Given the description of an element on the screen output the (x, y) to click on. 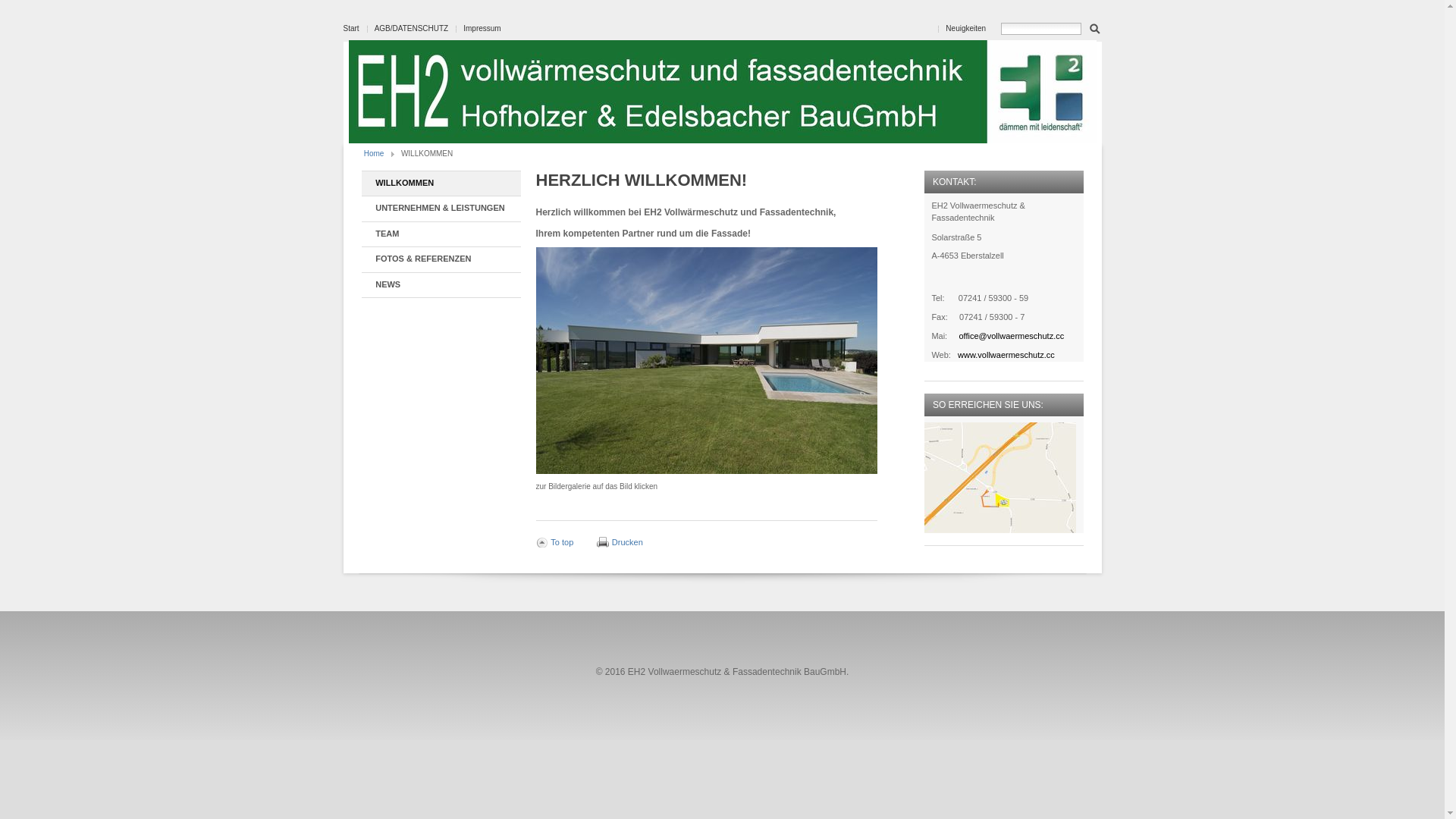
WILLKOMMEN Element type: text (440, 183)
www.vollwaermeschutz.cc Element type: text (1005, 354)
Drucken Element type: text (619, 541)
Impressum Element type: text (481, 28)
Suchen Element type: text (1094, 27)
Neuigkeiten Element type: text (965, 28)
FOTOS & REFERENZEN Element type: text (440, 259)
NEWS Element type: text (440, 285)
AGB/DATENSCHUTZ Element type: text (411, 28)
To top Element type: text (554, 541)
office@vollwaermeschutz.cc Element type: text (1010, 335)
Start Element type: text (350, 28)
zur Bildergalerie auf das Bild klicken Element type: hover (705, 360)
TEAM Element type: text (440, 234)
UNTERNEHMEN & LEISTUNGEN Element type: text (440, 208)
Home Element type: text (374, 153)
